Given the description of an element on the screen output the (x, y) to click on. 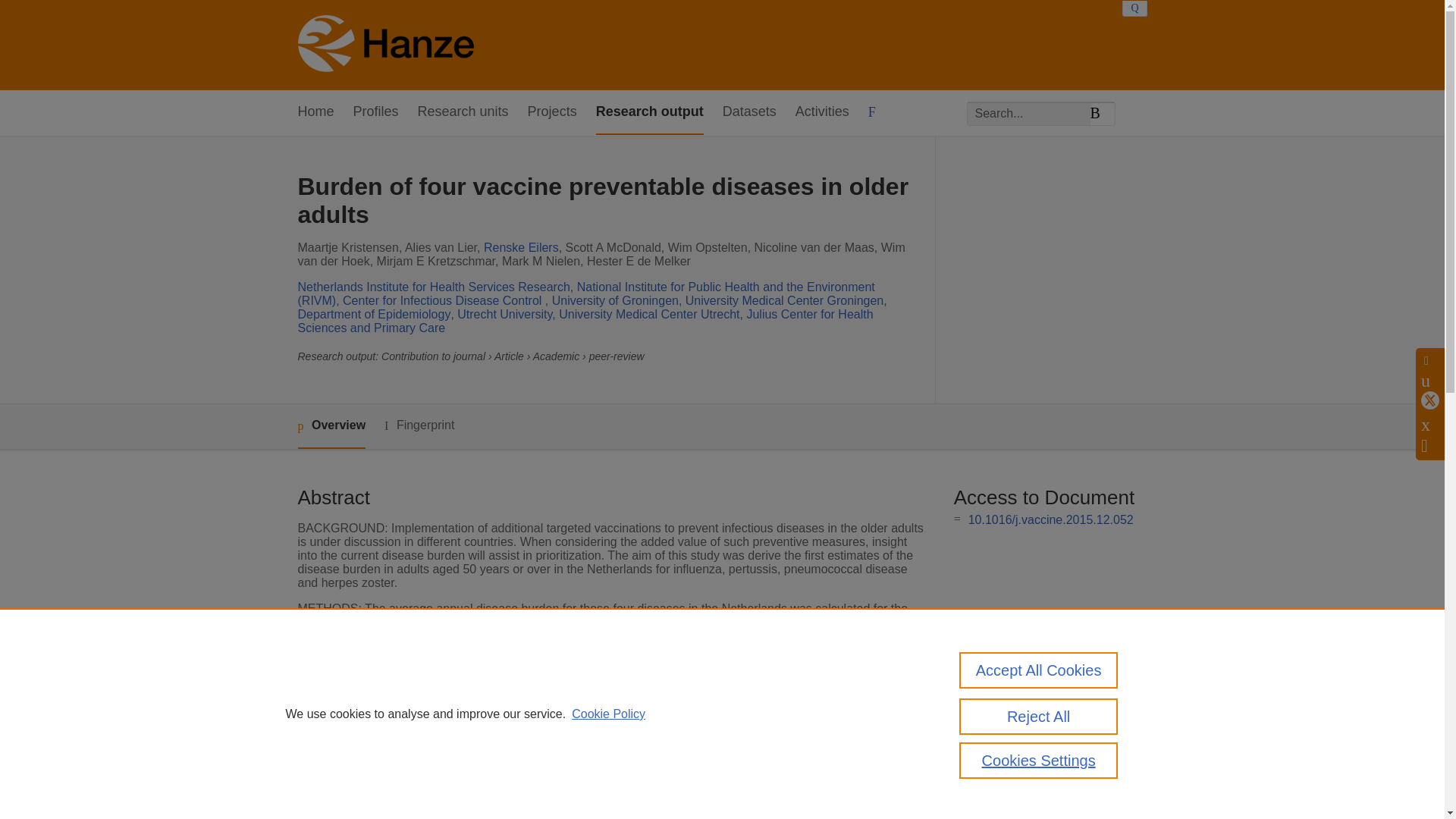
Activities (821, 112)
Datasets (749, 112)
Profiles (375, 112)
Netherlands Institute for Health Services Research (433, 286)
Projects (551, 112)
Research output (649, 112)
Fingerprint (419, 425)
Hanze University of Applied Sciences Home (385, 45)
